Given the description of an element on the screen output the (x, y) to click on. 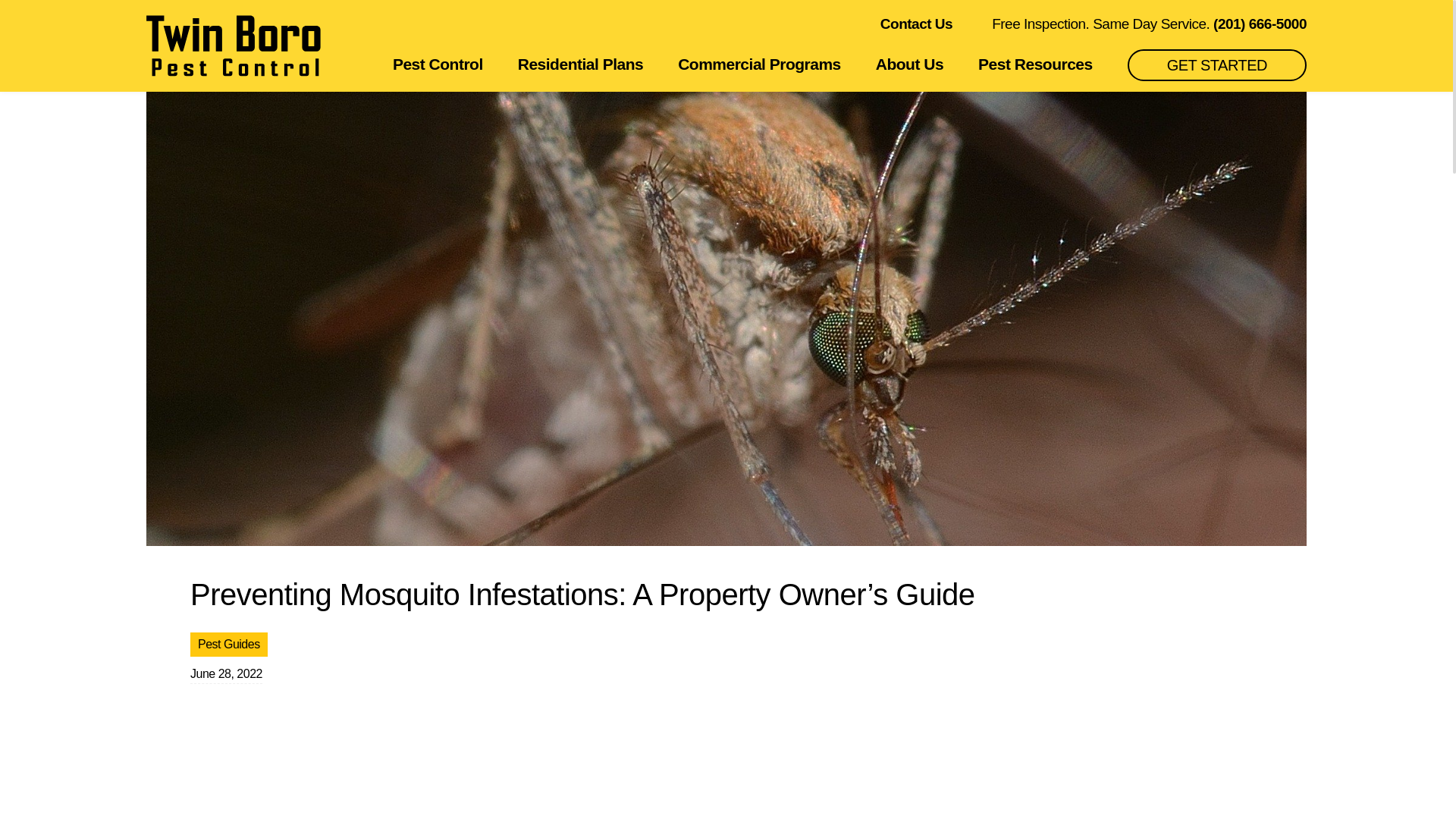
Home and Yard (468, 31)
Pest Resources (1035, 63)
Residential Plans (580, 63)
Twin Boro Company News (1211, 31)
Yard Protection Plan (923, 31)
Premium Plan (695, 31)
About Us (909, 63)
Commercial Programs (759, 63)
GET STARTED (1216, 65)
Twin Boro (233, 45)
Pest Control (438, 63)
Home Protection Plan (240, 31)
See all Plans (1150, 31)
Contact Us (916, 24)
Integrated Pest Management (984, 31)
